Given the description of an element on the screen output the (x, y) to click on. 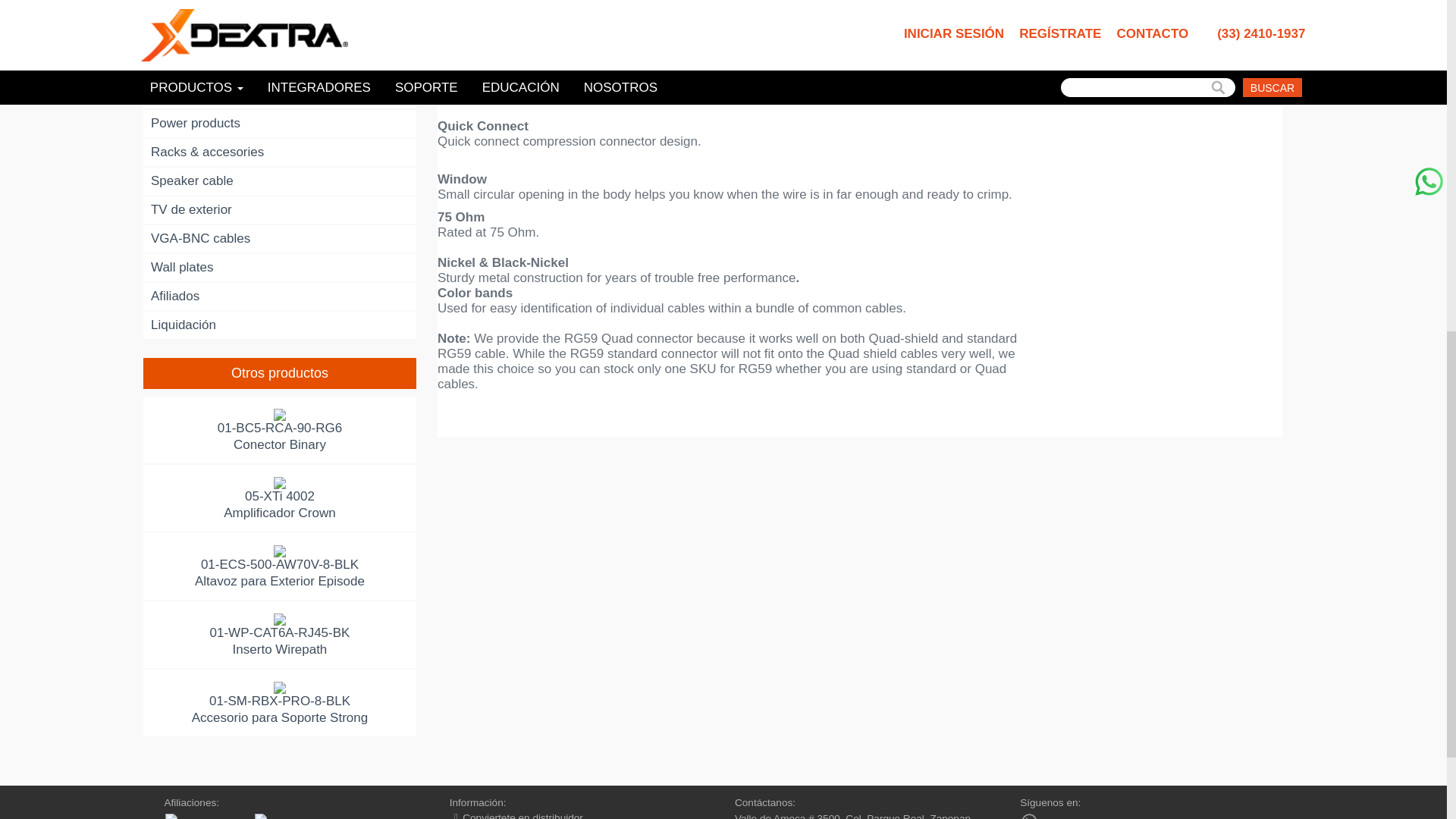
01-BC5-RCA-90-RG6 - Conector Binary (280, 430)
05-XTi 4002 - Amplificador Crown (280, 498)
01-ECS-500-AW70V-8-BLK - Altavoz para Exterior Episode (280, 566)
01-WP-CAT6A-RJ45-BK - Inserto Wirepath (280, 635)
01-SM-RBX-PRO-8-BLK - Accesorio para Soporte Strong (280, 703)
